Given the description of an element on the screen output the (x, y) to click on. 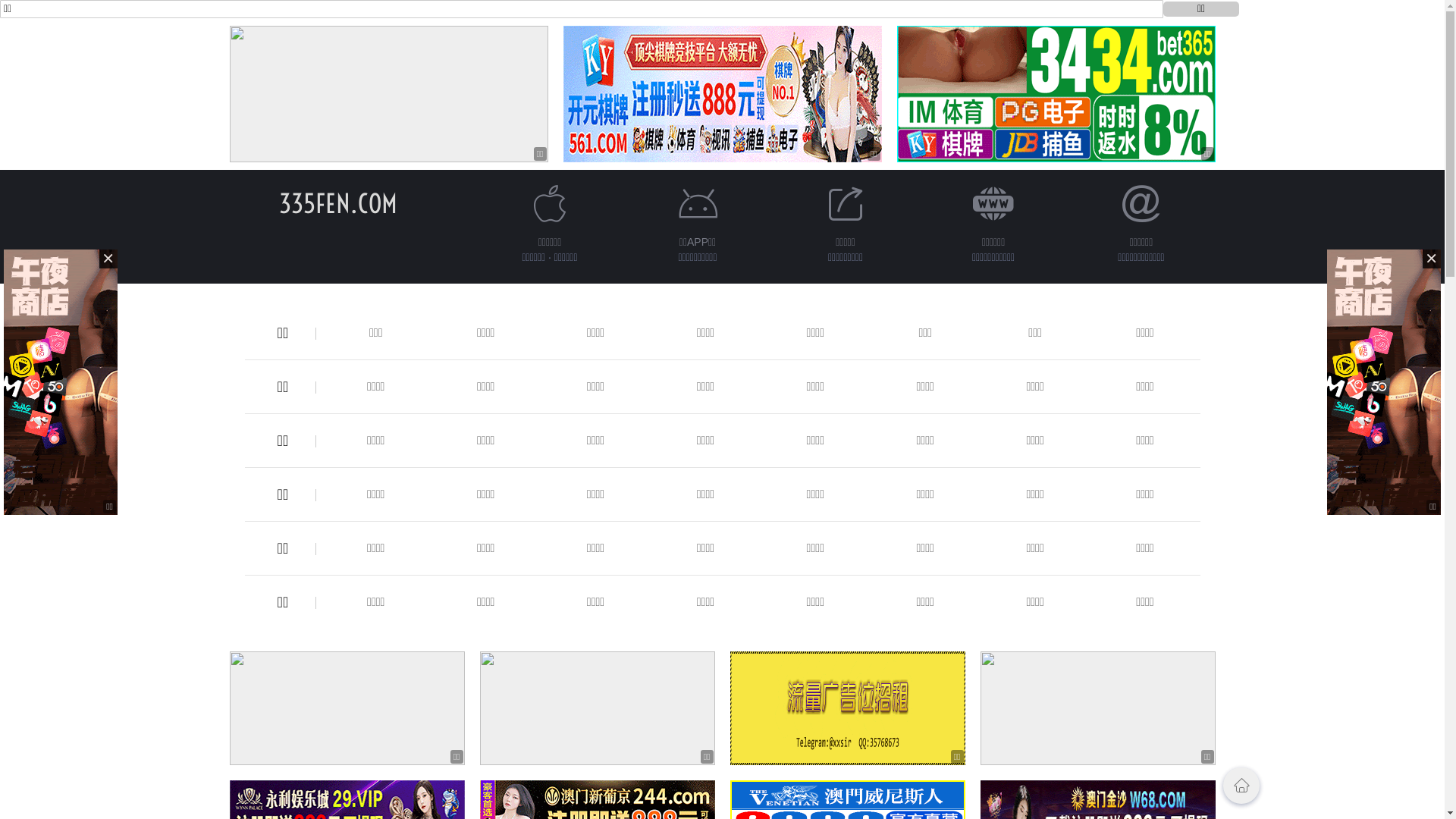
335FEN.COM Element type: text (338, 203)
